Given the description of an element on the screen output the (x, y) to click on. 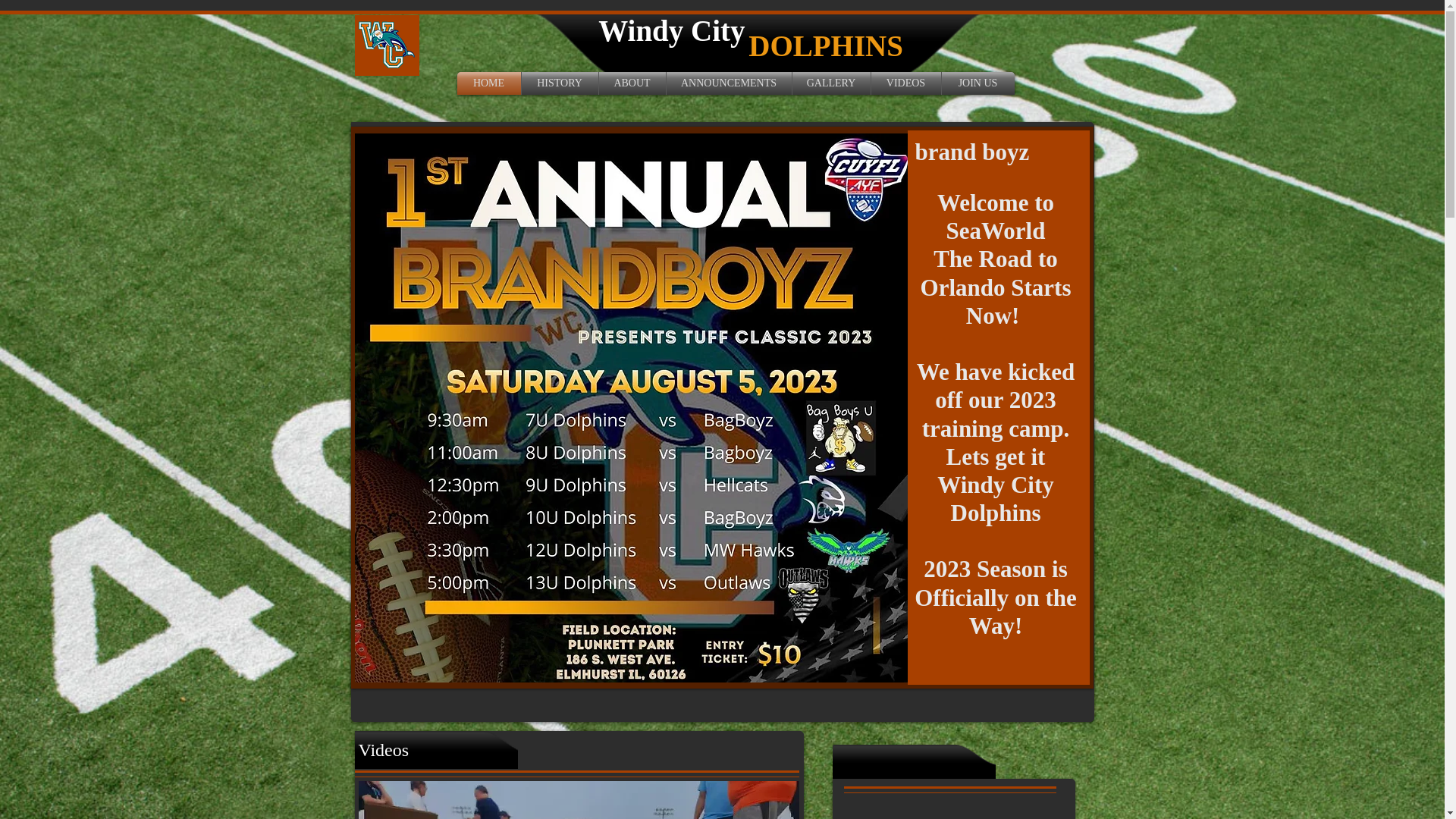
HISTORY (559, 83)
JOIN US (978, 83)
ANNOUNCEMENTS (727, 83)
HOME (488, 83)
GALLERY (830, 83)
ABOUT (631, 83)
VIDEOS (905, 83)
